Given the description of an element on the screen output the (x, y) to click on. 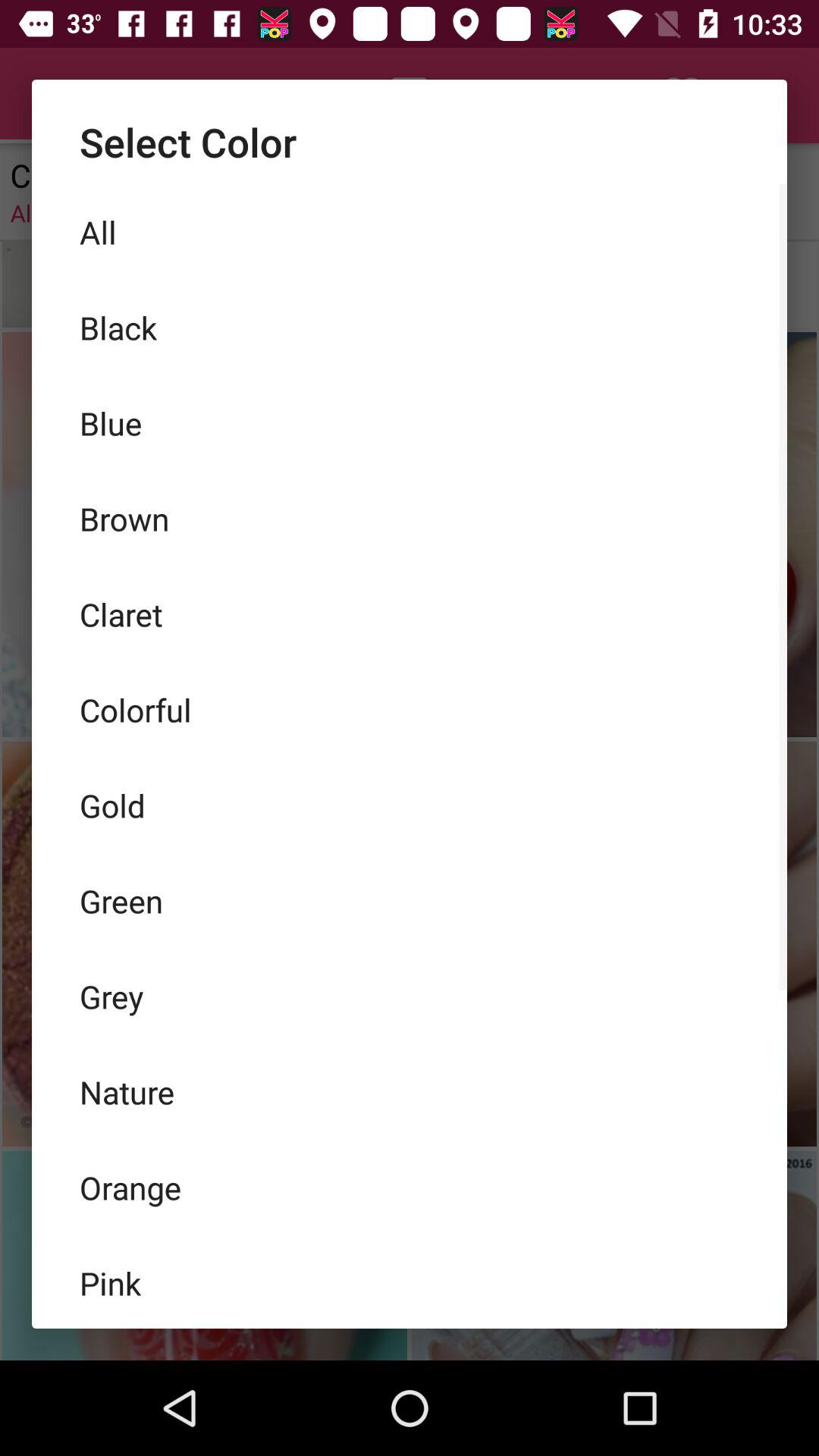
select the item above colorful (409, 614)
